Given the description of an element on the screen output the (x, y) to click on. 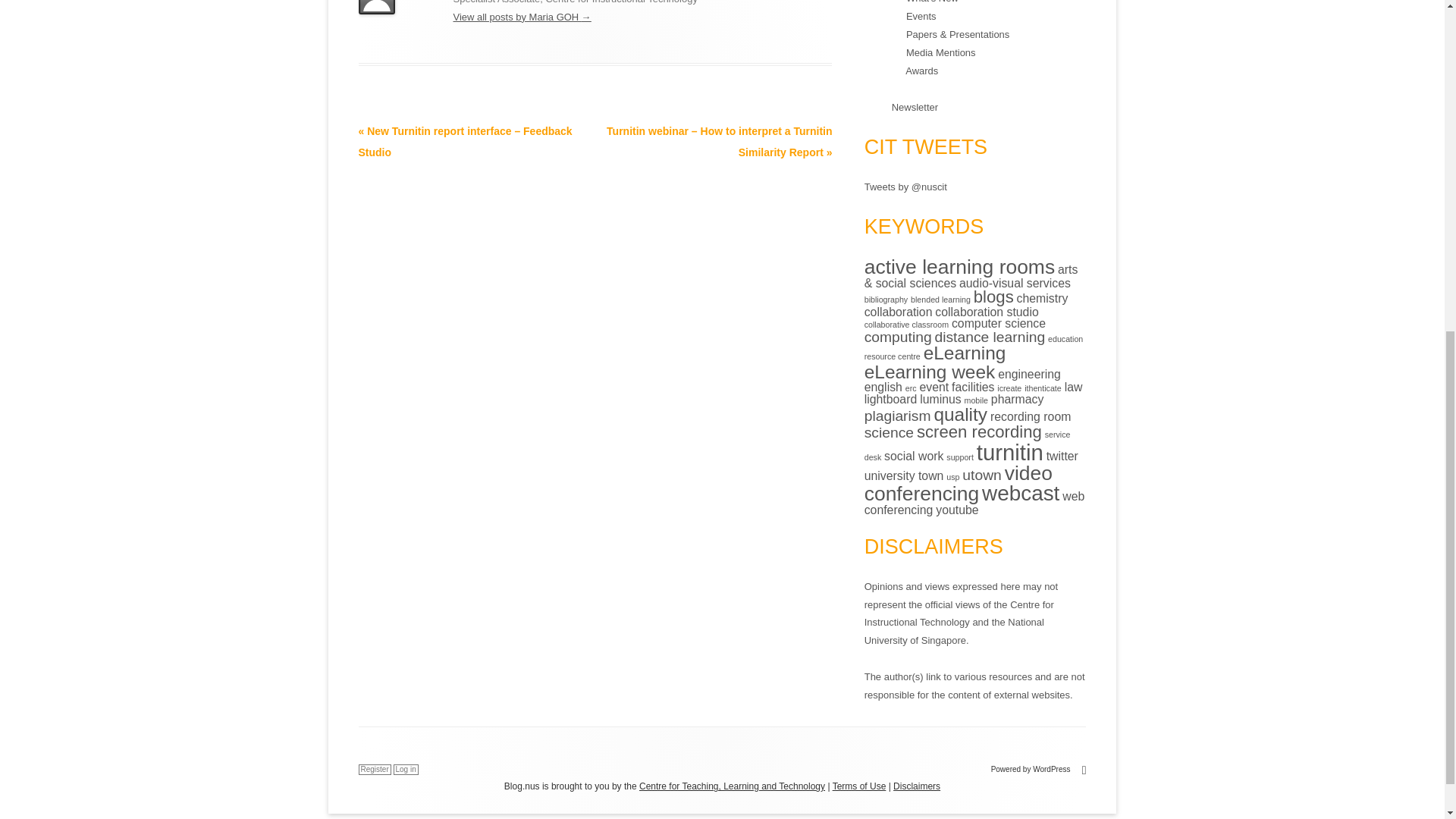
collaboration (898, 310)
audio-visual services (1014, 282)
blogs (993, 296)
What's New (931, 2)
collaboration studio (986, 310)
active learning rooms (959, 266)
Events (920, 16)
collaborative classroom (906, 324)
chemistry (1042, 297)
Media Mentions (940, 52)
